Given the description of an element on the screen output the (x, y) to click on. 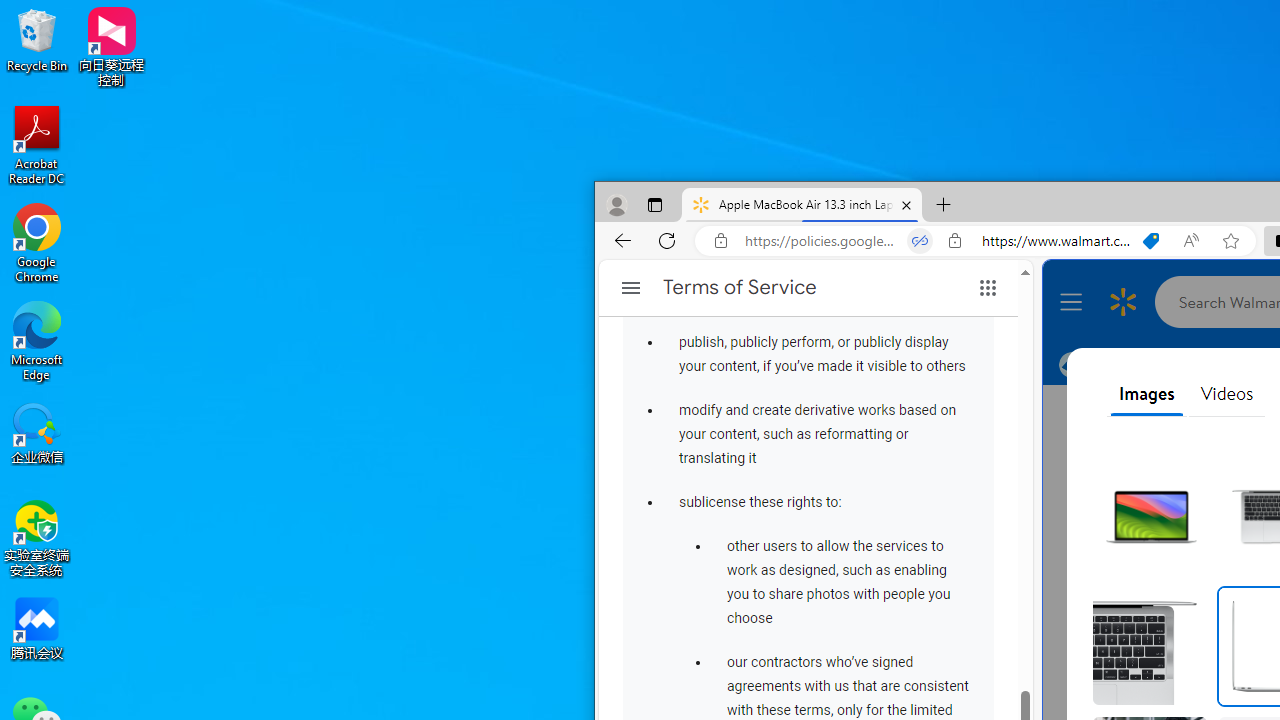
Recycle Bin (37, 39)
Microsoft Edge (37, 340)
